Given the description of an element on the screen output the (x, y) to click on. 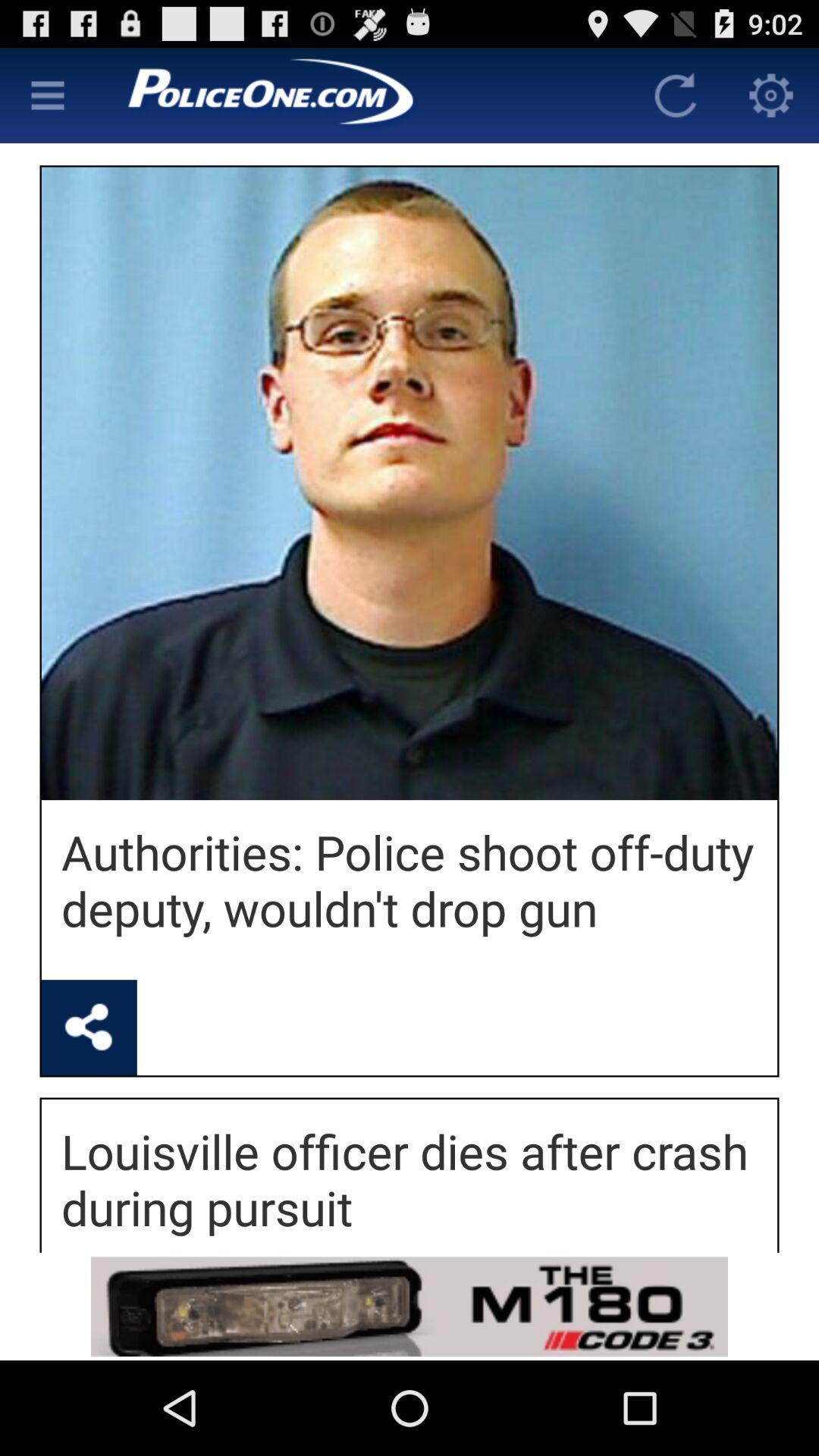
toggle autoplay option (361, 95)
